Given the description of an element on the screen output the (x, y) to click on. 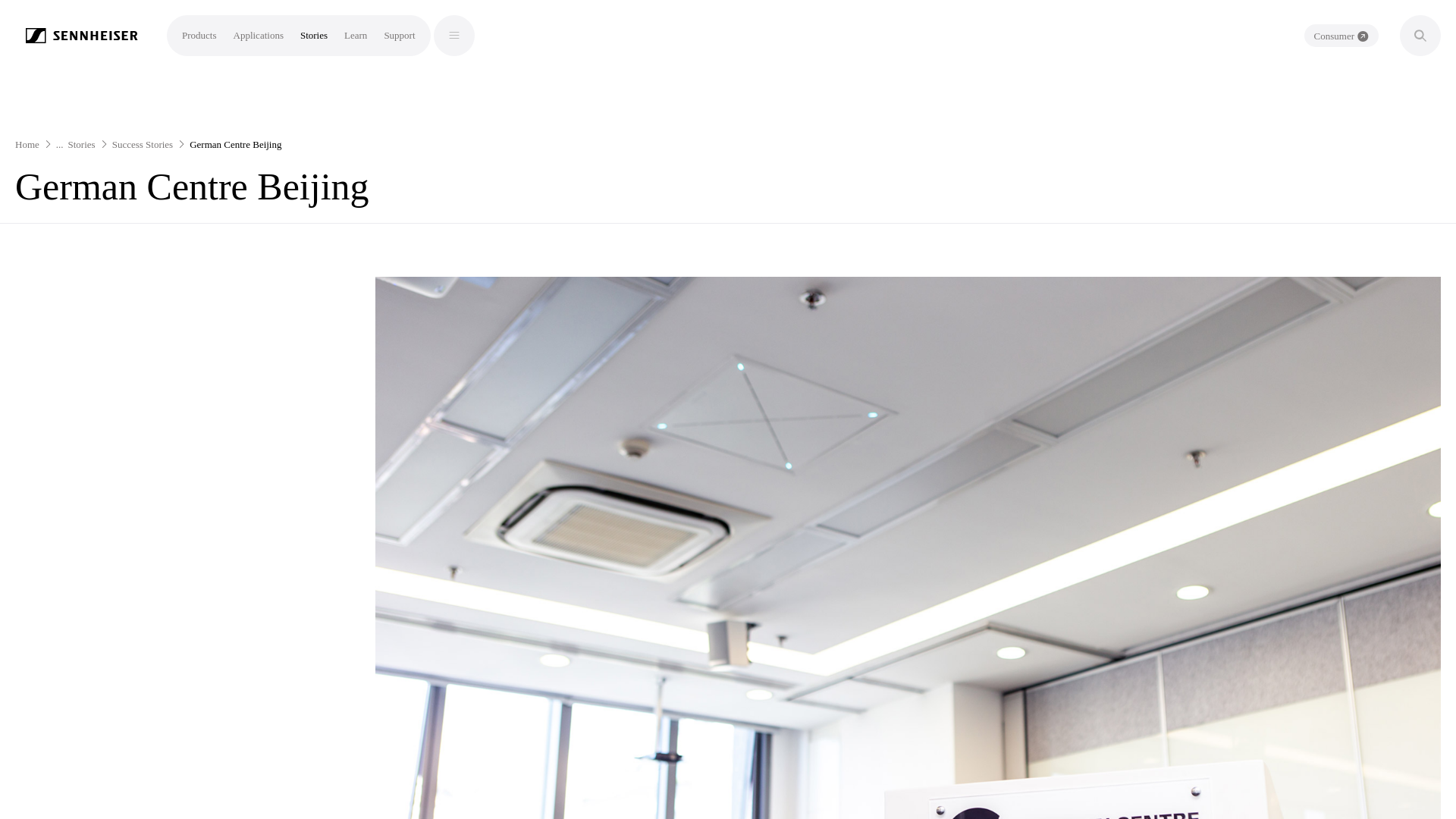
Stories (82, 144)
Products (199, 35)
Applications (257, 35)
Learn (354, 35)
Home (26, 144)
Support (399, 35)
Success Stories (142, 144)
Stories (313, 35)
Consumer (1341, 35)
